Given the description of an element on the screen output the (x, y) to click on. 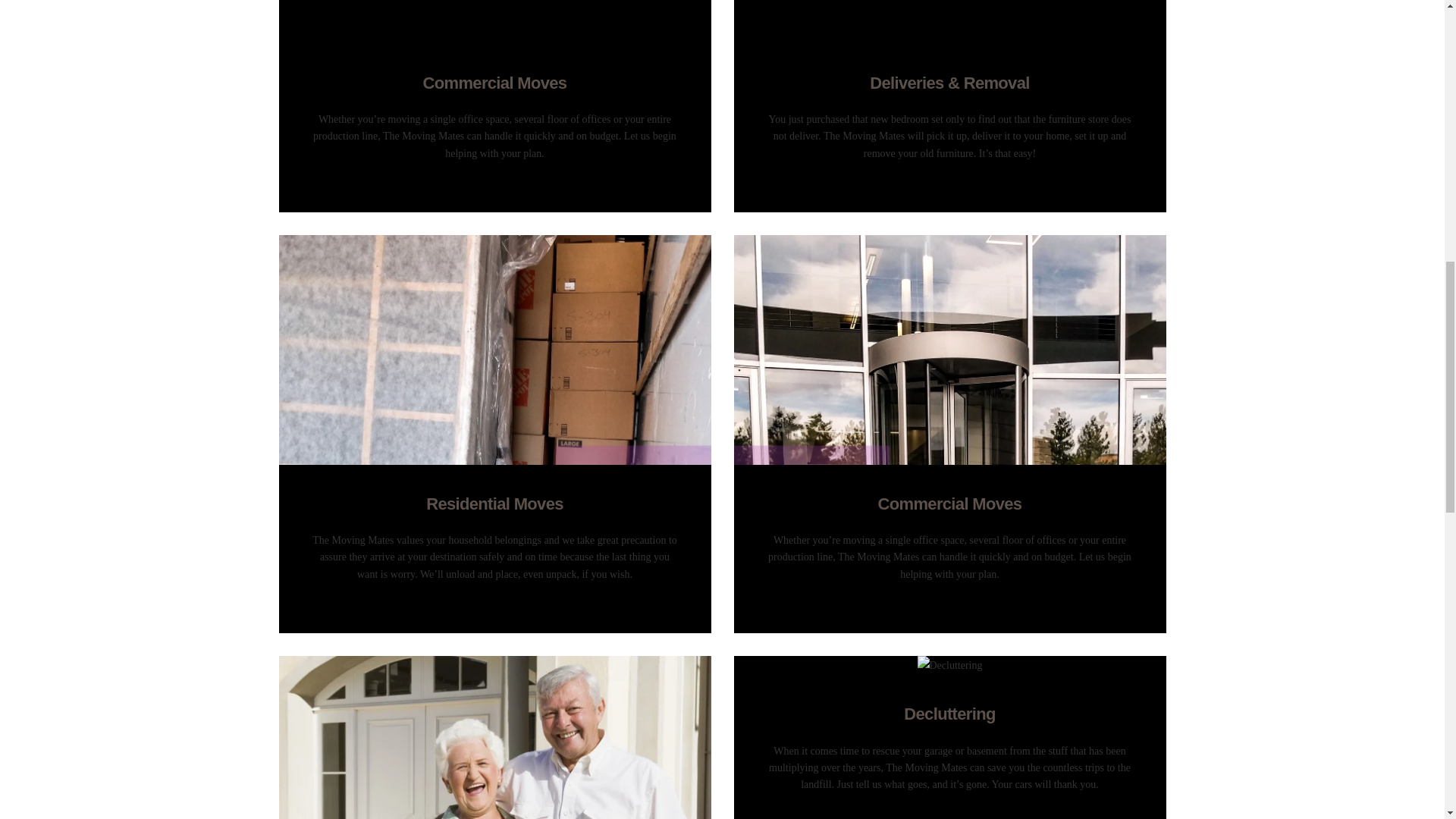
Commercial Moves (495, 83)
Decluttering (949, 713)
Commercial Moves (949, 504)
Residential Moves (495, 504)
